Given the description of an element on the screen output the (x, y) to click on. 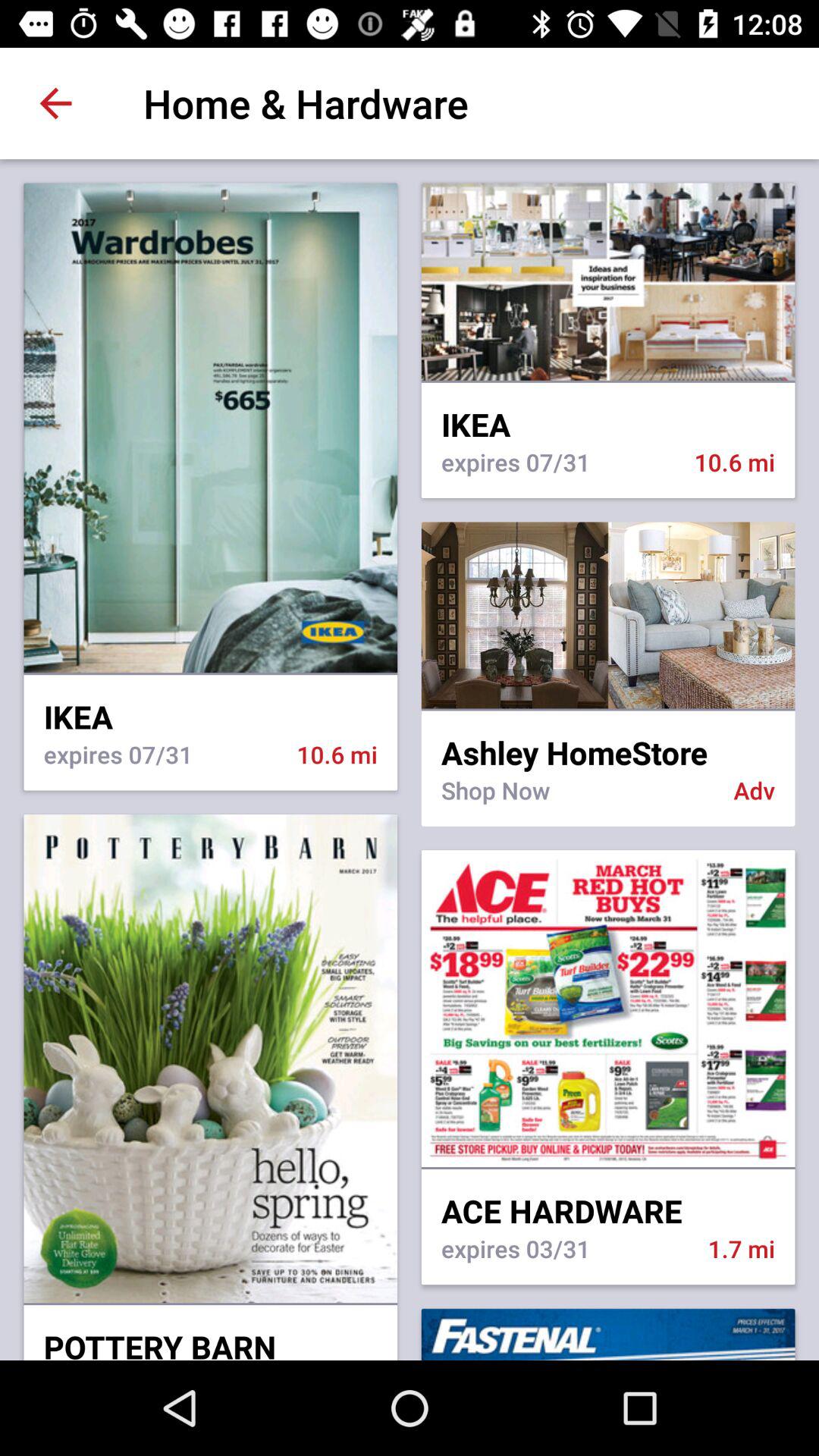
choose the icon next to ikea icon (608, 742)
